Given the description of an element on the screen output the (x, y) to click on. 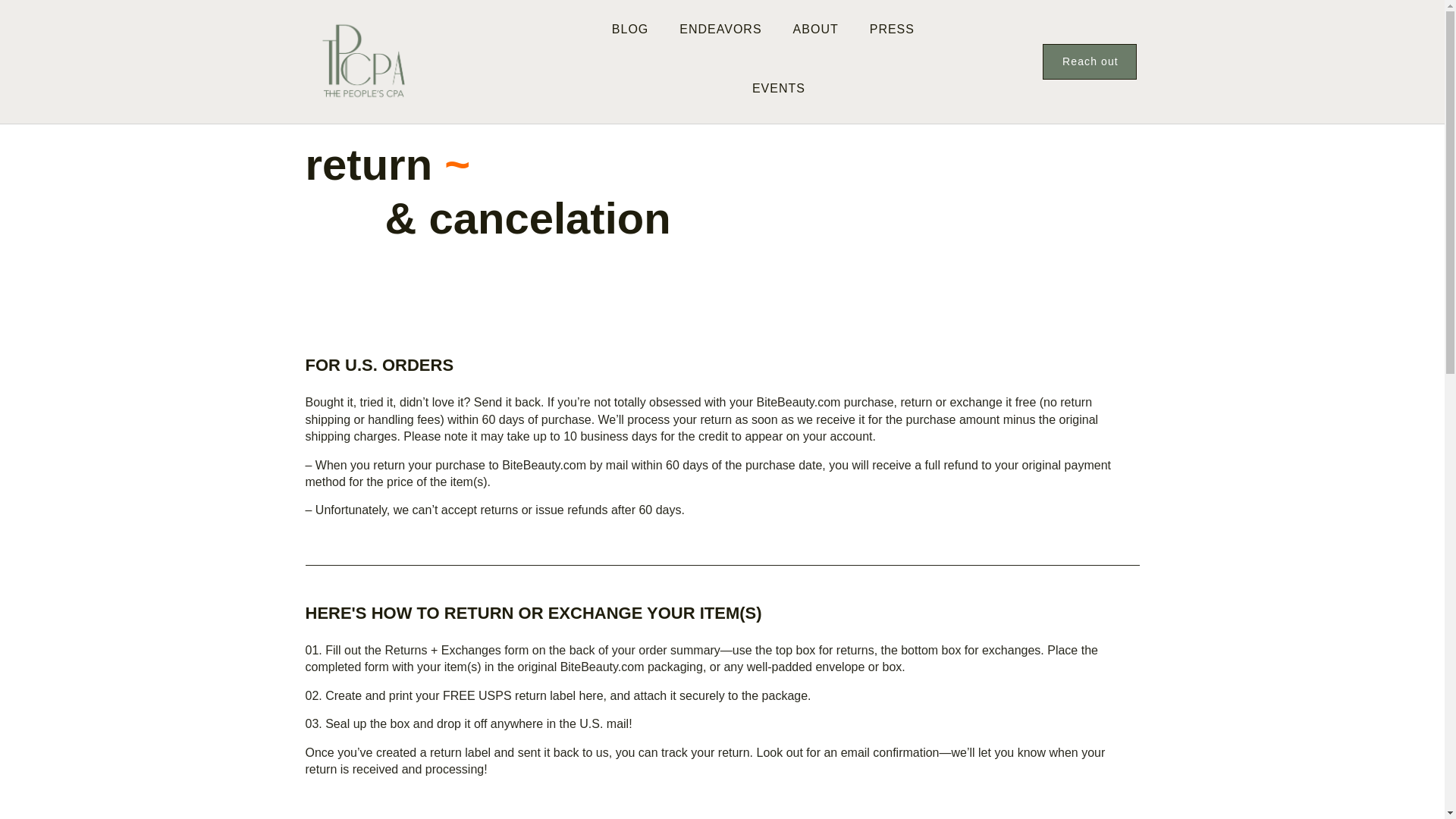
Reach out (1089, 61)
EVENTS (778, 87)
ENDEAVORS (720, 29)
